Given the description of an element on the screen output the (x, y) to click on. 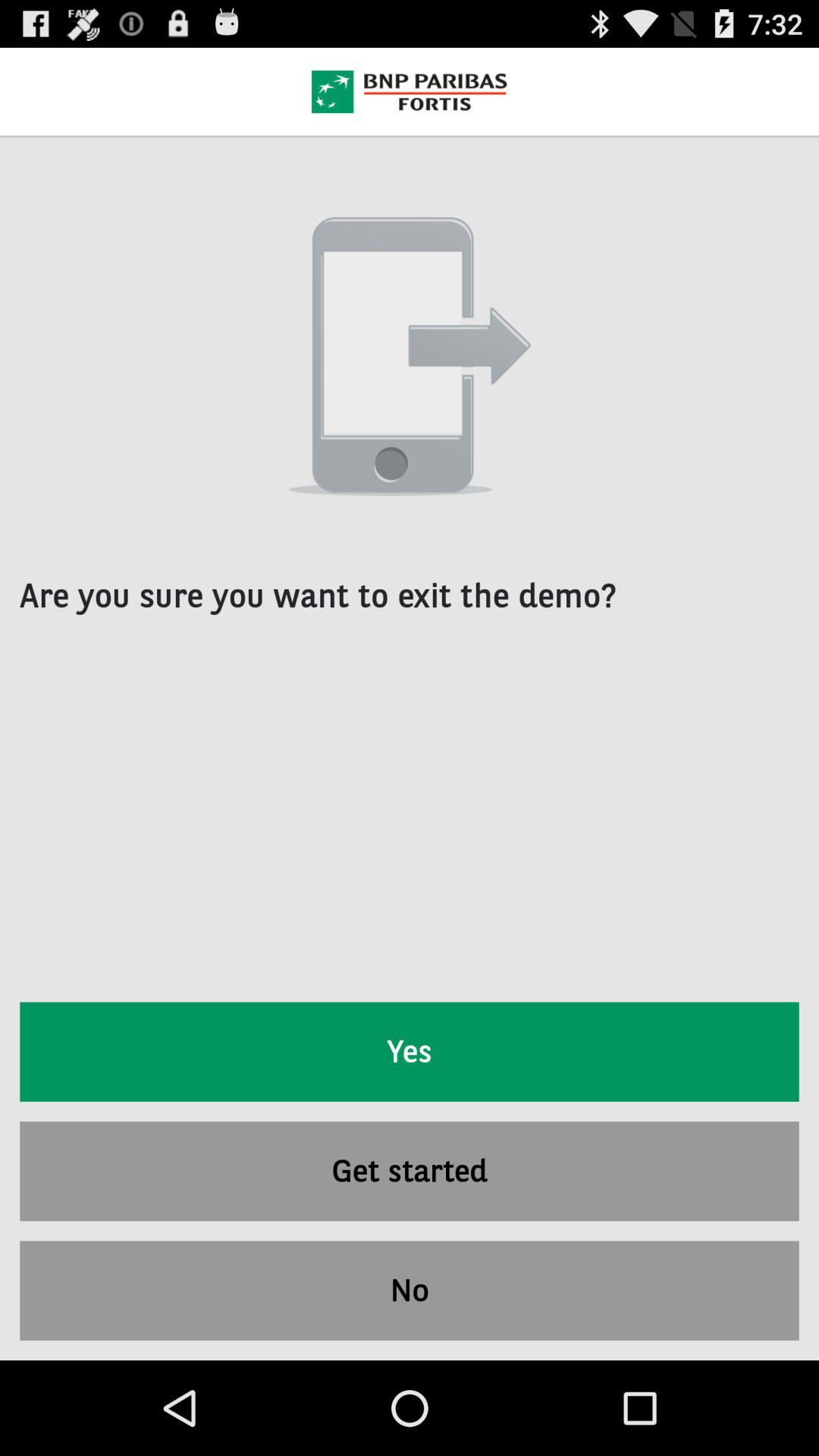
choose the icon below the yes item (409, 1171)
